Given the description of an element on the screen output the (x, y) to click on. 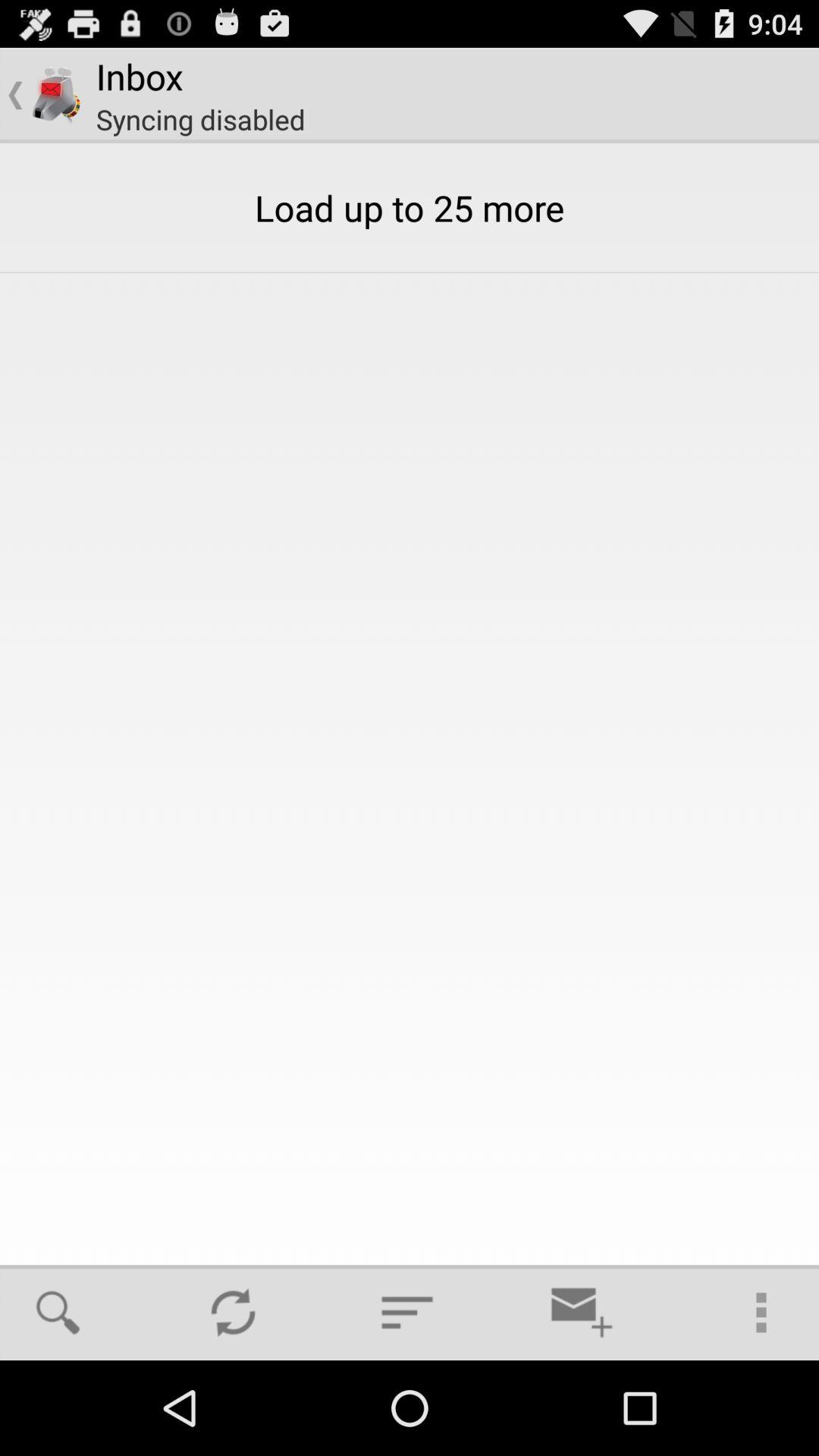
turn on item below load up to (581, 1312)
